Given the description of an element on the screen output the (x, y) to click on. 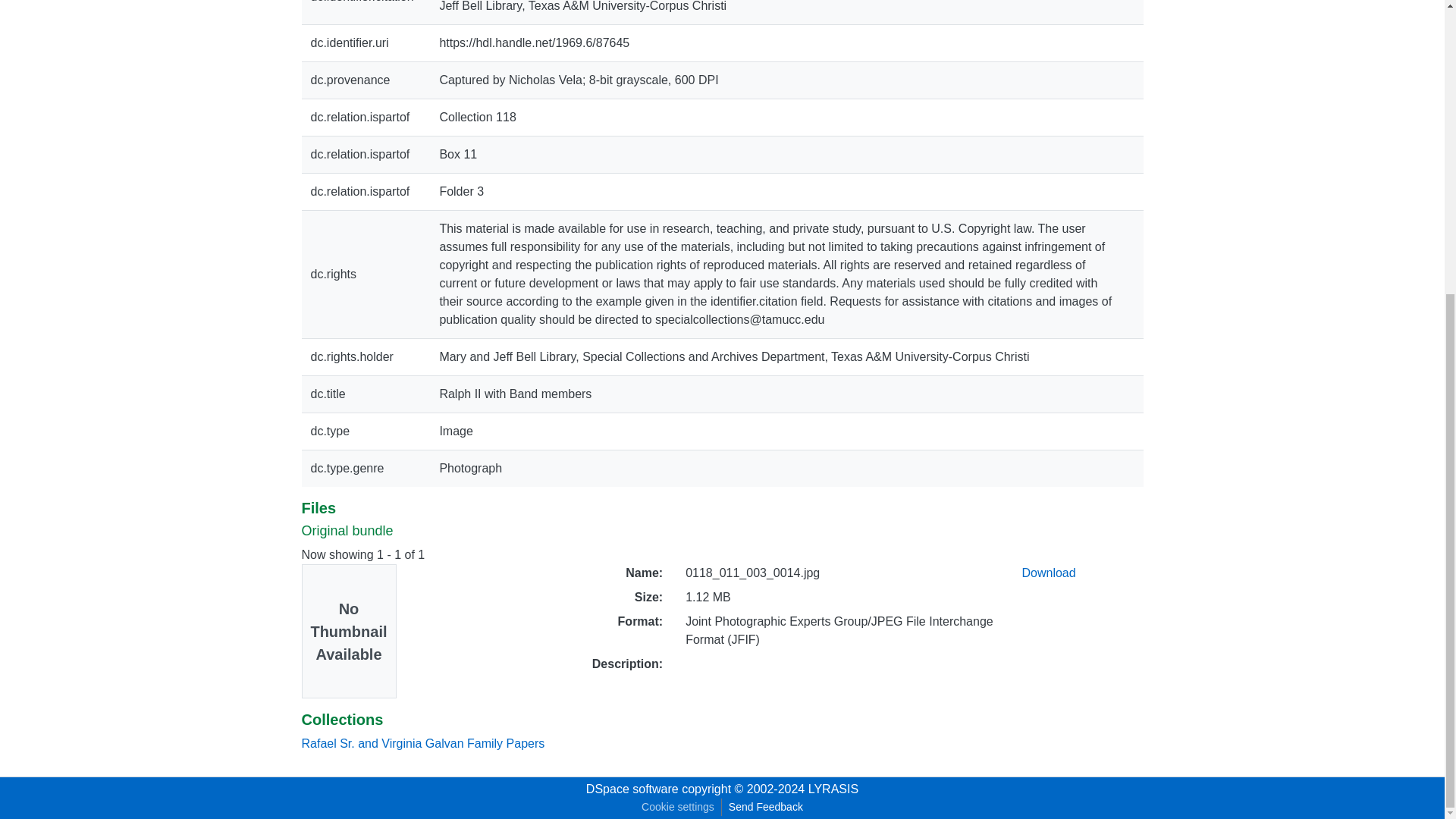
Rafael Sr. and Virginia Galvan Family Papers (422, 743)
Send Feedback (765, 806)
LYRASIS (833, 788)
DSpace software (632, 788)
Cookie settings (677, 806)
Download (1048, 572)
